Given the description of an element on the screen output the (x, y) to click on. 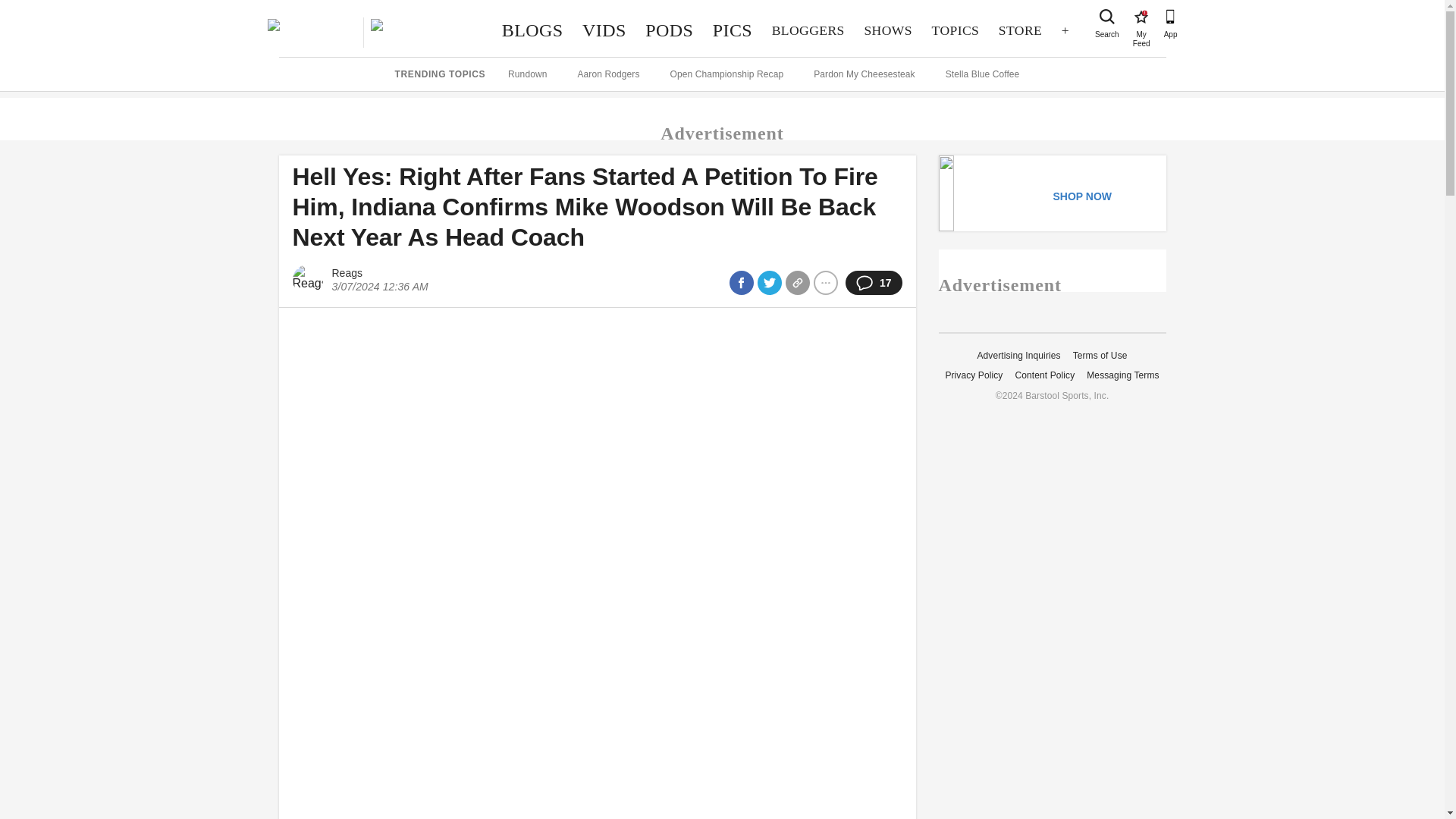
VIDS (603, 30)
PODS (668, 30)
PICS (732, 30)
BLOGS (532, 30)
STORE (1019, 30)
TOPICS (954, 30)
Search (1107, 16)
SHOWS (887, 30)
BLOGGERS (807, 30)
